Given the description of an element on the screen output the (x, y) to click on. 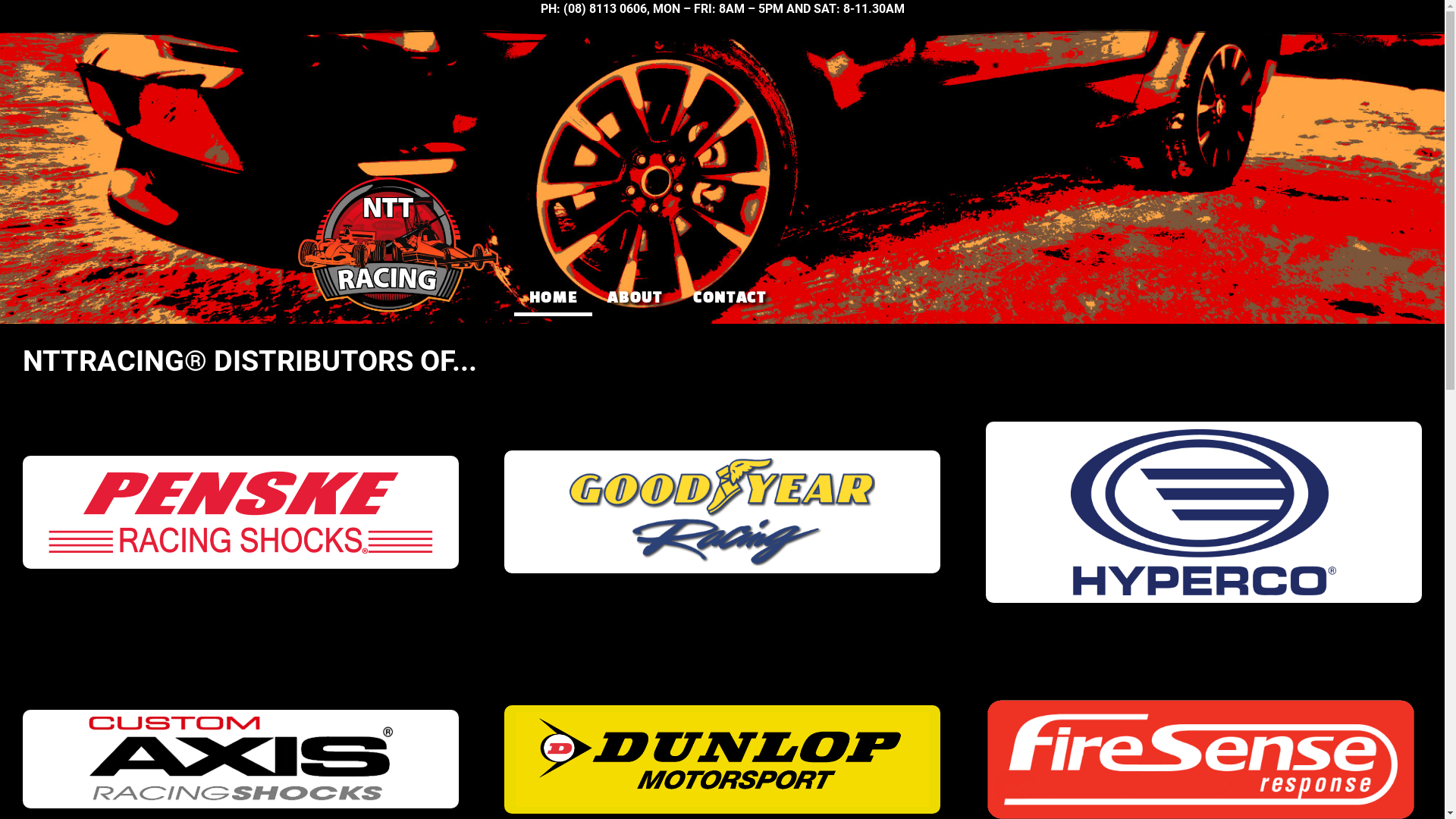
(08) 8113 0606 Element type: text (604, 8)
CONTACT Element type: text (729, 298)
HOME Element type: text (553, 298)
ABOUT Element type: text (634, 298)
